Given the description of an element on the screen output the (x, y) to click on. 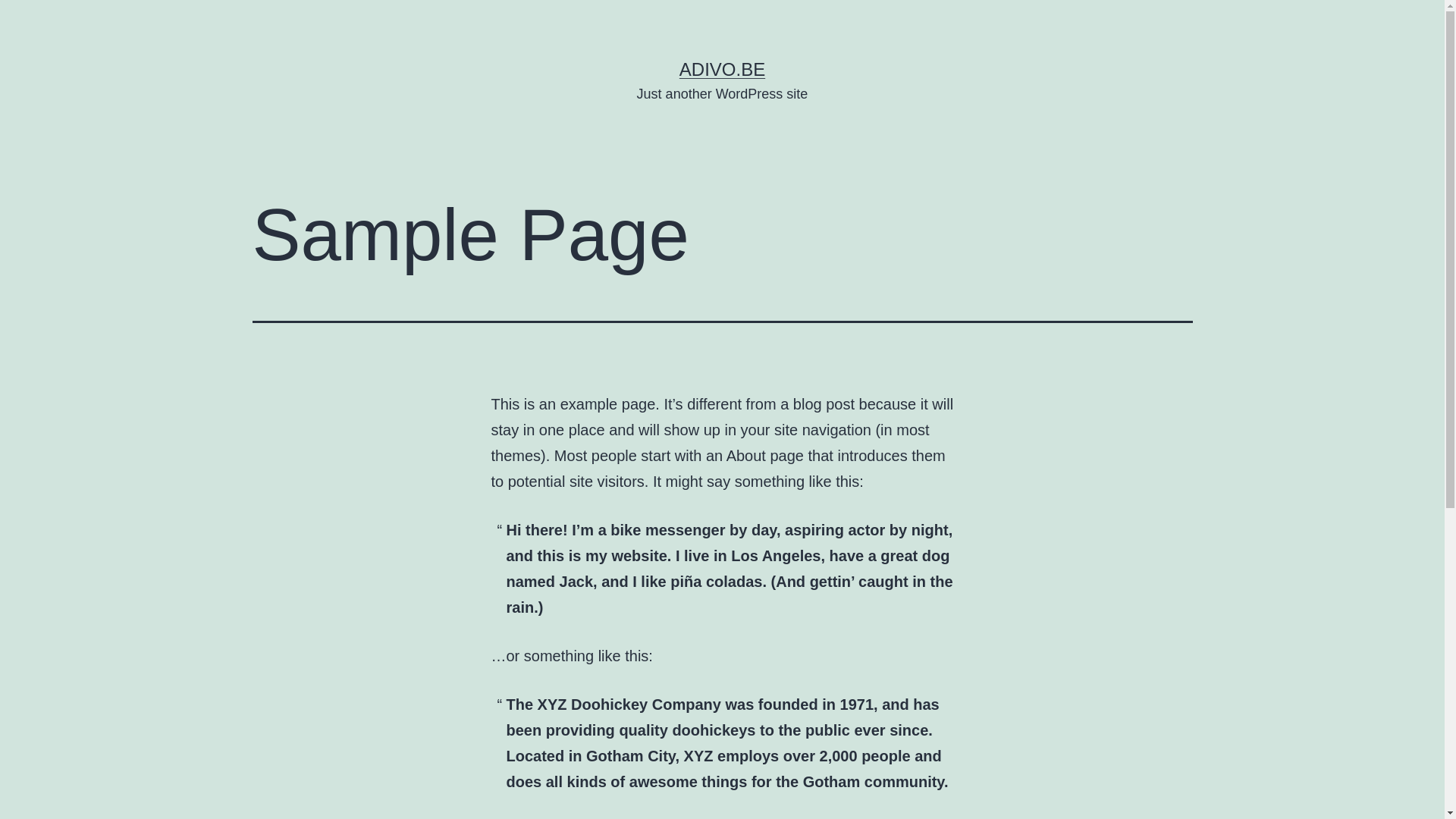
ADIVO.BE Element type: text (722, 69)
